Given the description of an element on the screen output the (x, y) to click on. 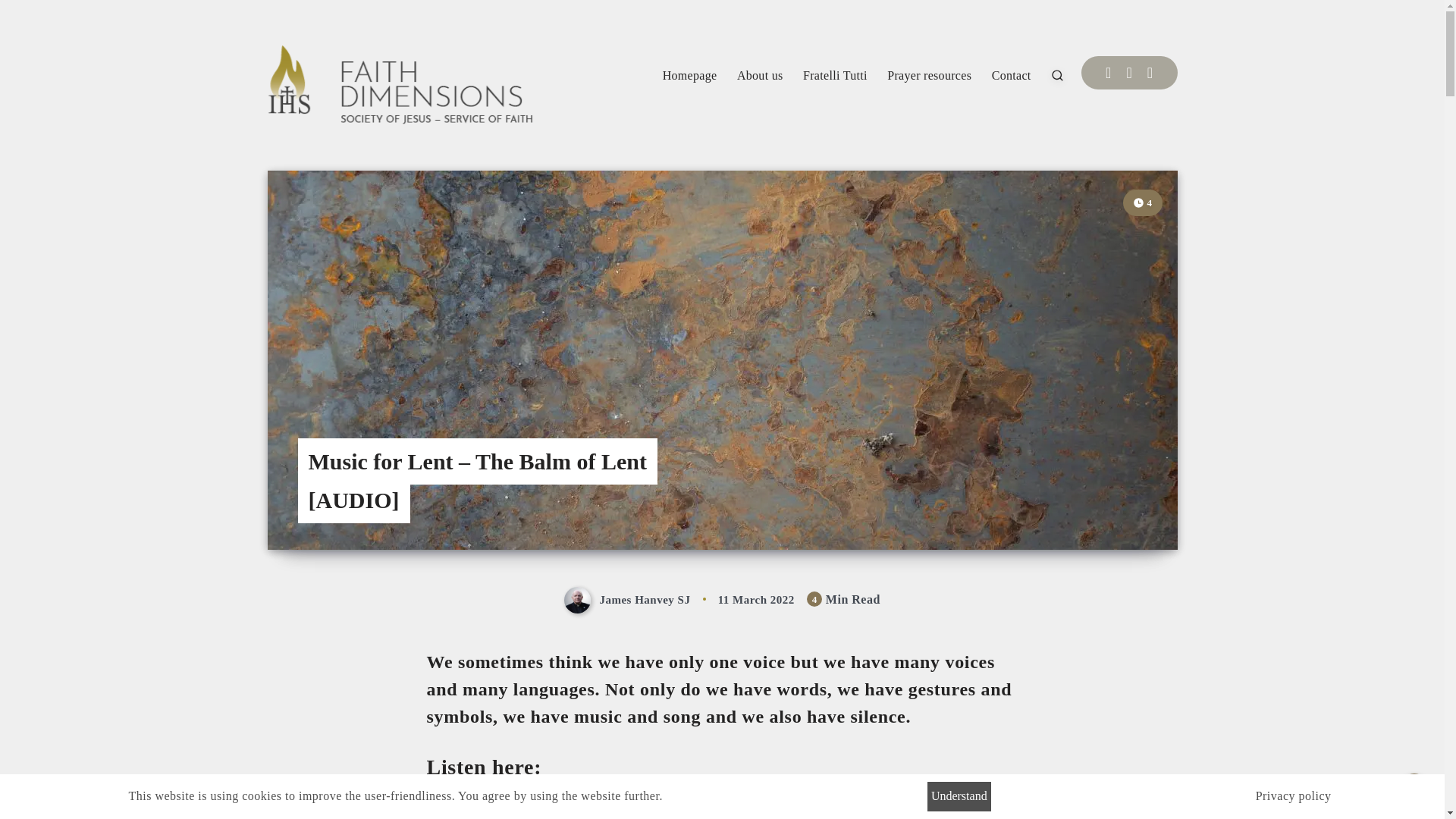
About us (759, 75)
James Hanvey SJ (629, 599)
Homepage (689, 75)
Contact (1010, 75)
Fratelli Tutti (835, 75)
Prayer resources (928, 75)
4 Min Read (1142, 202)
Author: James Hanvey SJ (629, 599)
